Given the description of an element on the screen output the (x, y) to click on. 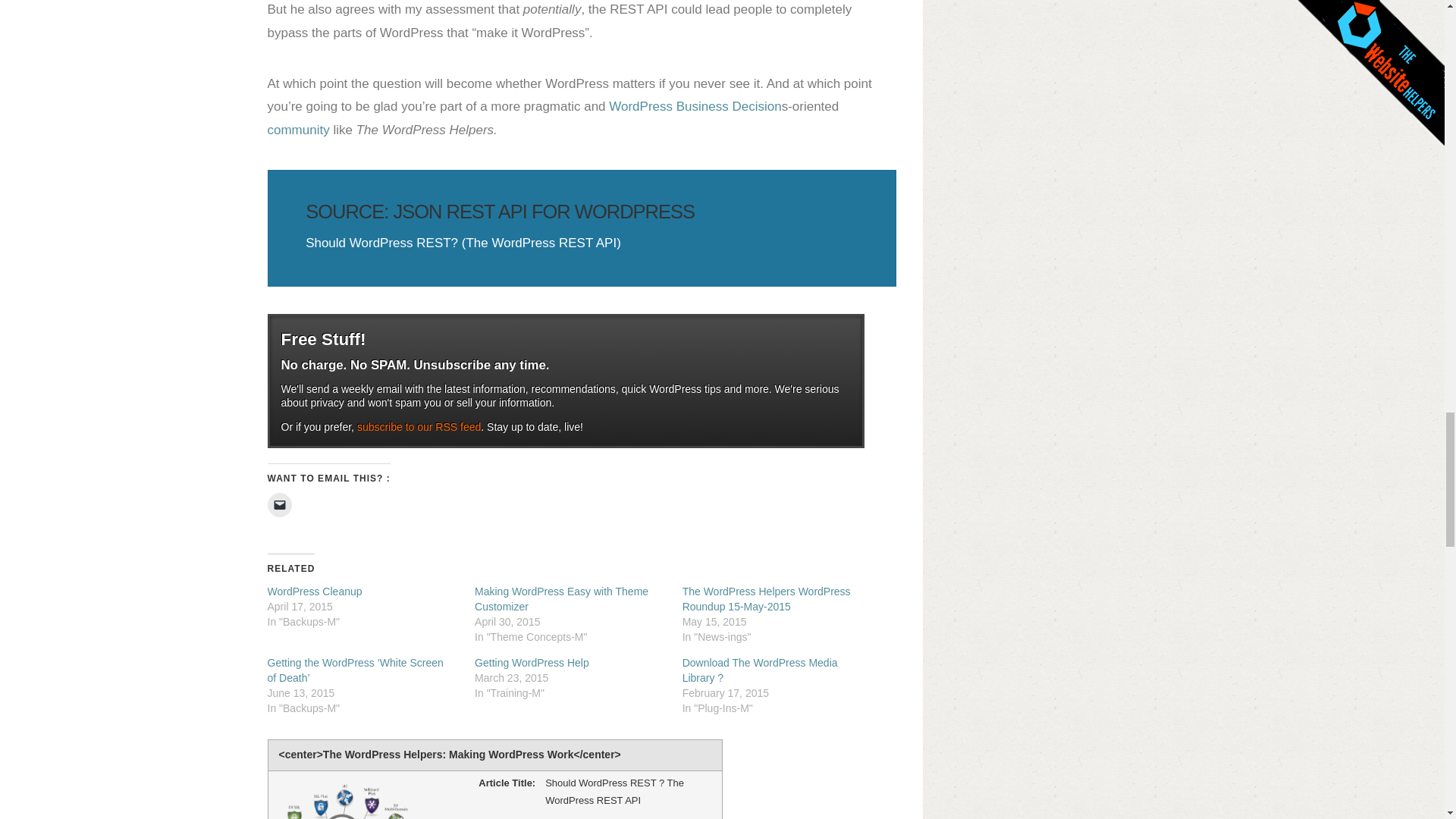
Matt Mullenweg and WordPress Business Decisions (694, 106)
Click to email a link to a friend (278, 504)
Join the WordPress Helpers Community (297, 129)
